Given the description of an element on the screen output the (x, y) to click on. 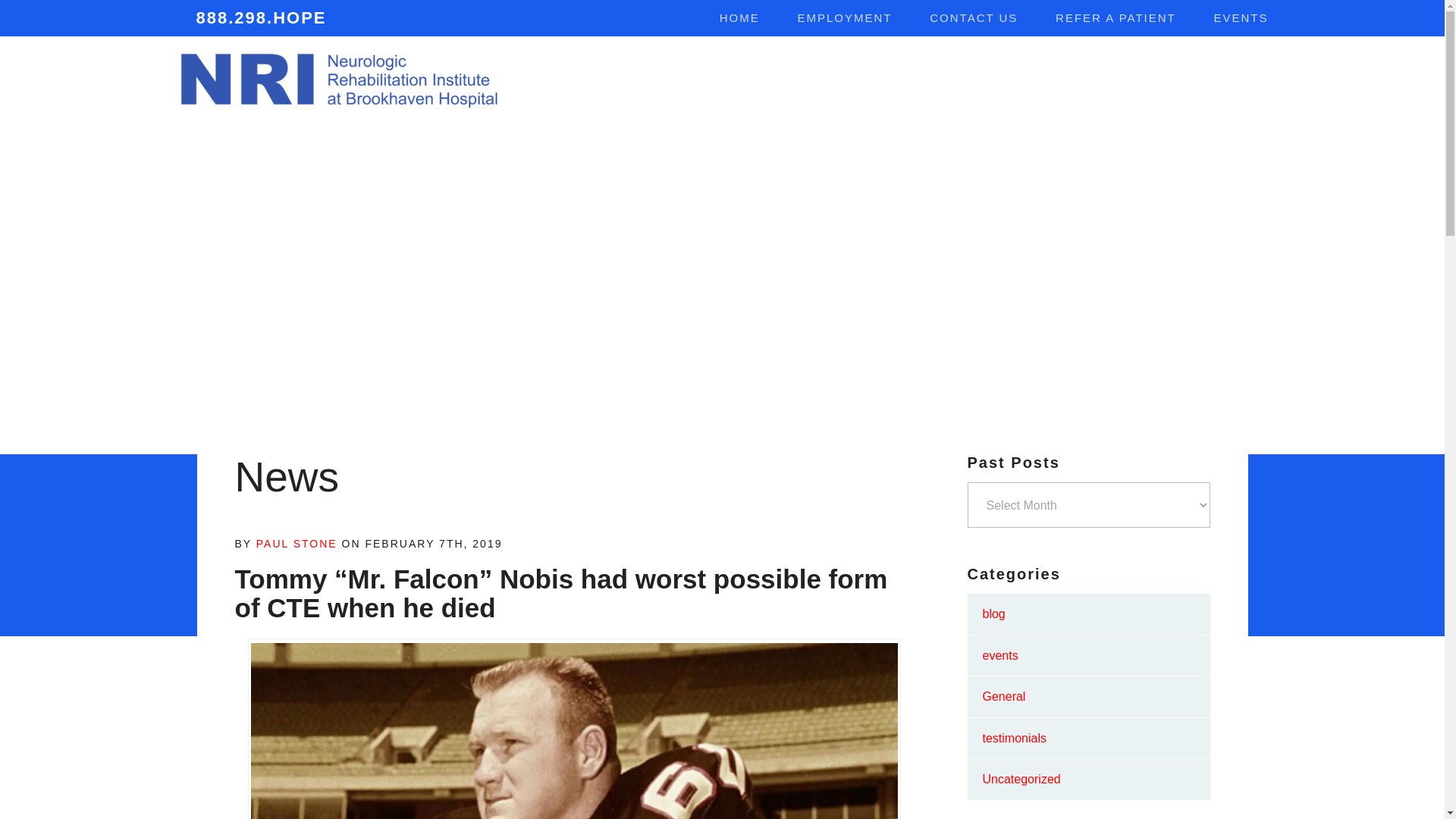
EVENTS (1240, 17)
EMPLOYMENT (844, 17)
Go (1245, 79)
HOME (739, 17)
REFER A PATIENT (1115, 17)
ABOUT US (654, 80)
ADMISSIONS PROCESS (1134, 80)
888.298.HOPE (251, 18)
PROGRAMS (770, 80)
CONTACT US (973, 17)
Posts by Paul Stone (296, 542)
